Given the description of an element on the screen output the (x, y) to click on. 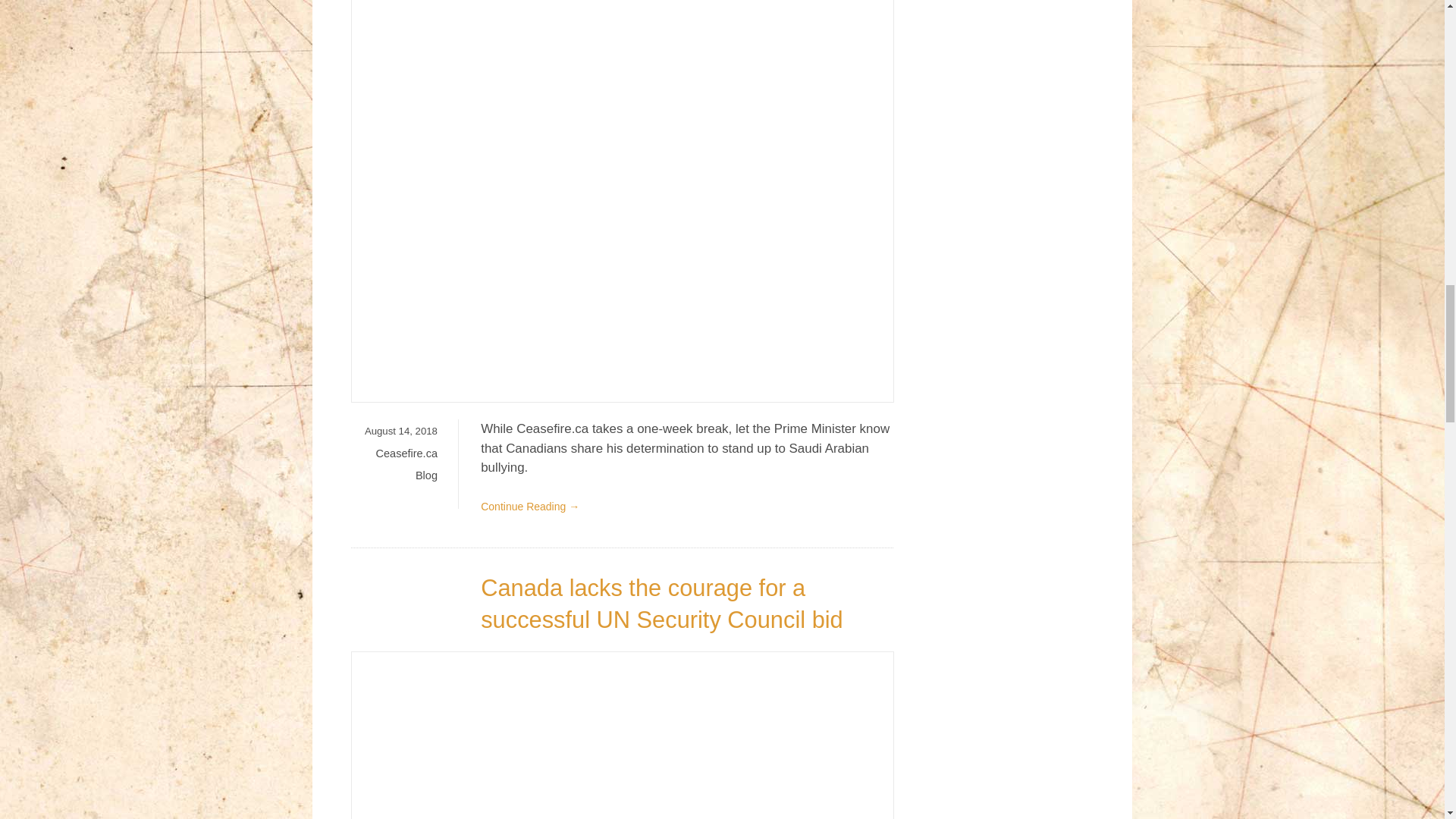
Posts by Ceasefire.ca (406, 453)
Blog (426, 475)
Ceasefire.ca (406, 453)
